Given the description of an element on the screen output the (x, y) to click on. 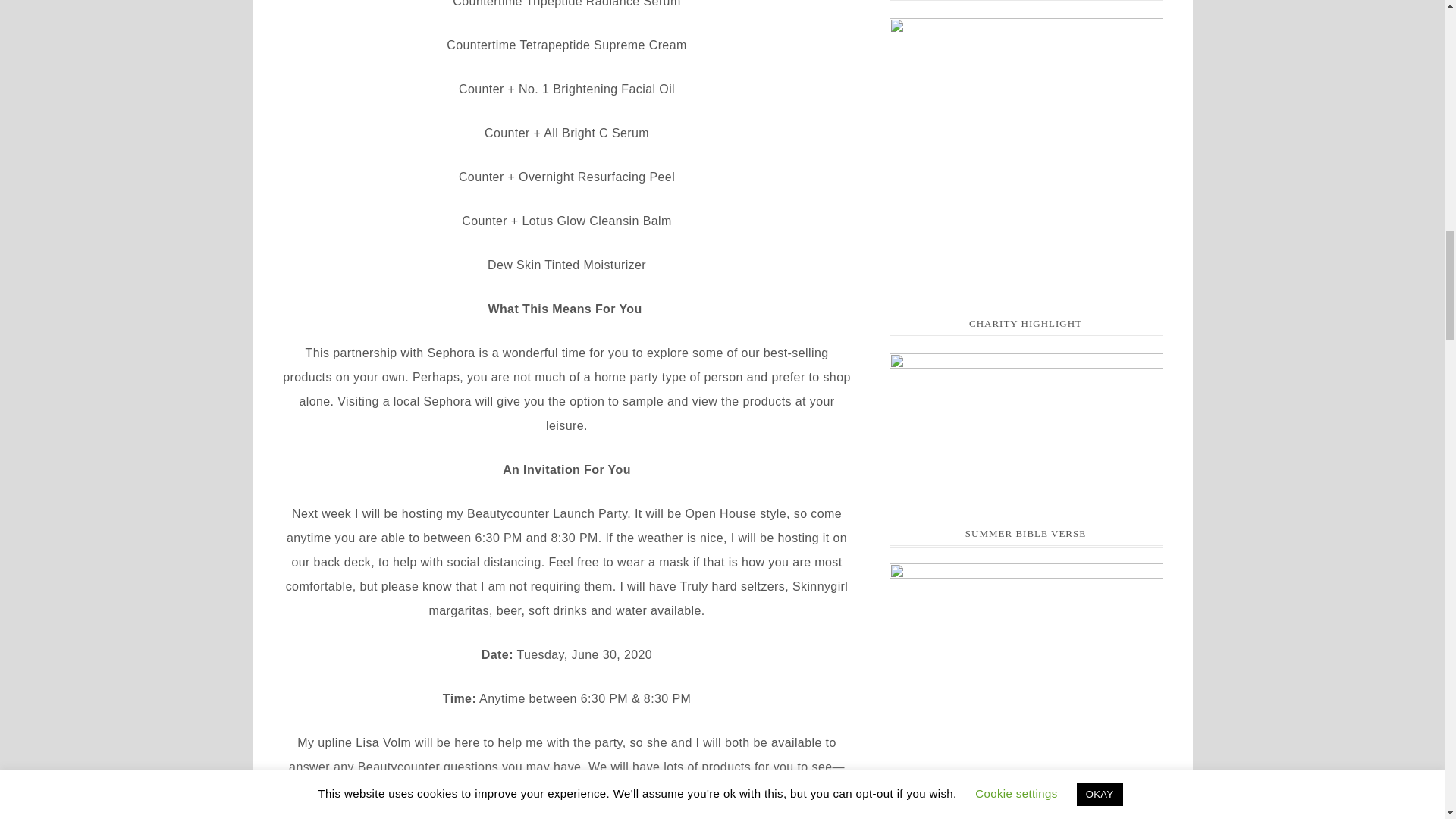
Kerry's Beautycounter Website (1024, 153)
October Bible Verse (1024, 664)
Spring Charity Highlight (1024, 426)
